Given the description of an element on the screen output the (x, y) to click on. 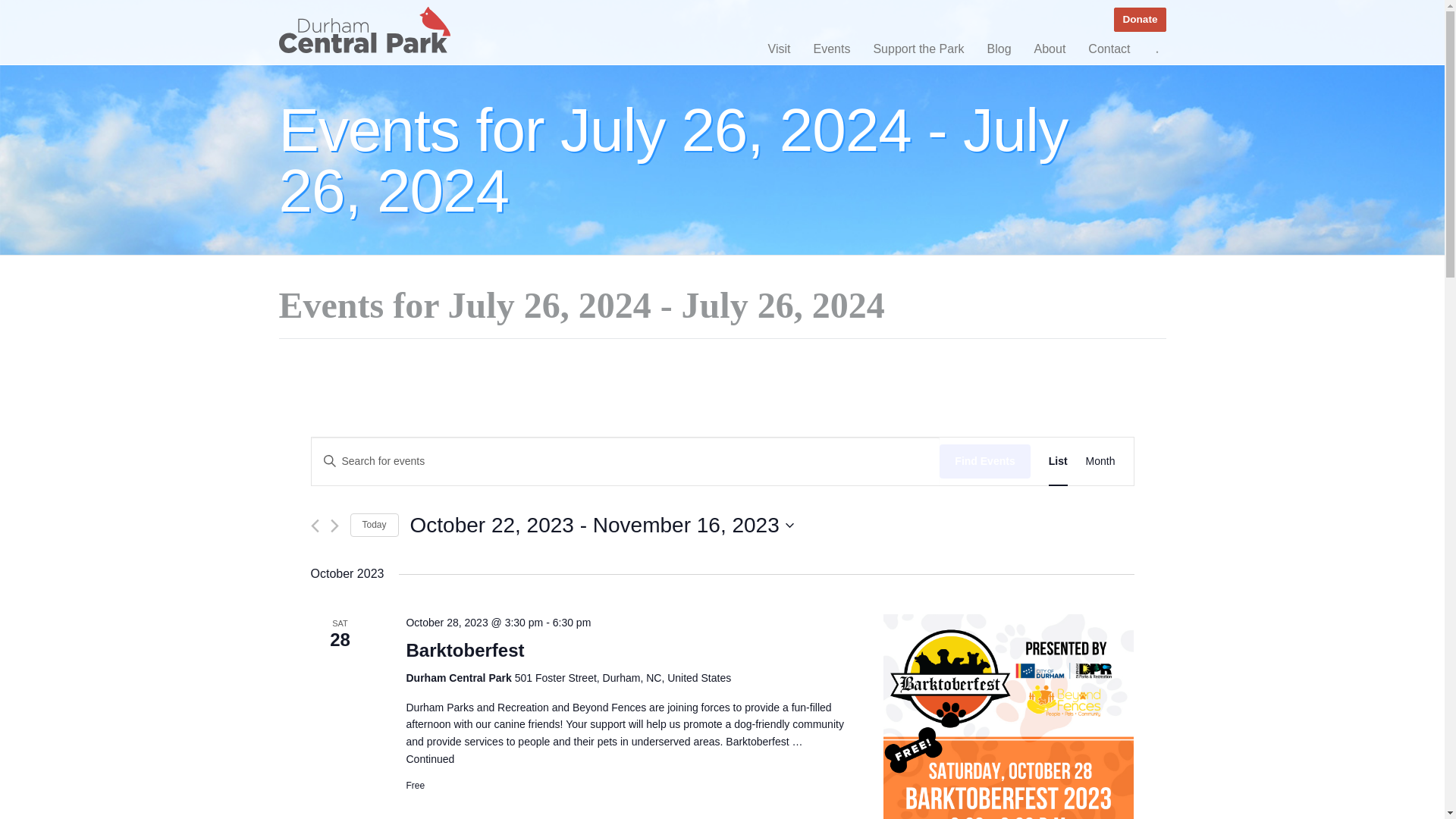
Blog (999, 49)
Barktoberfest (465, 649)
Click to toggle datepicker (601, 525)
Events (831, 49)
Barktoberfest (1008, 716)
Today (374, 525)
Skip to content (601, 525)
Skip to content (797, 8)
Donate (797, 8)
About (1139, 19)
Contact (1050, 49)
Barktoberfest (1109, 49)
Click to select today's date (465, 649)
Find Events (374, 525)
